Given the description of an element on the screen output the (x, y) to click on. 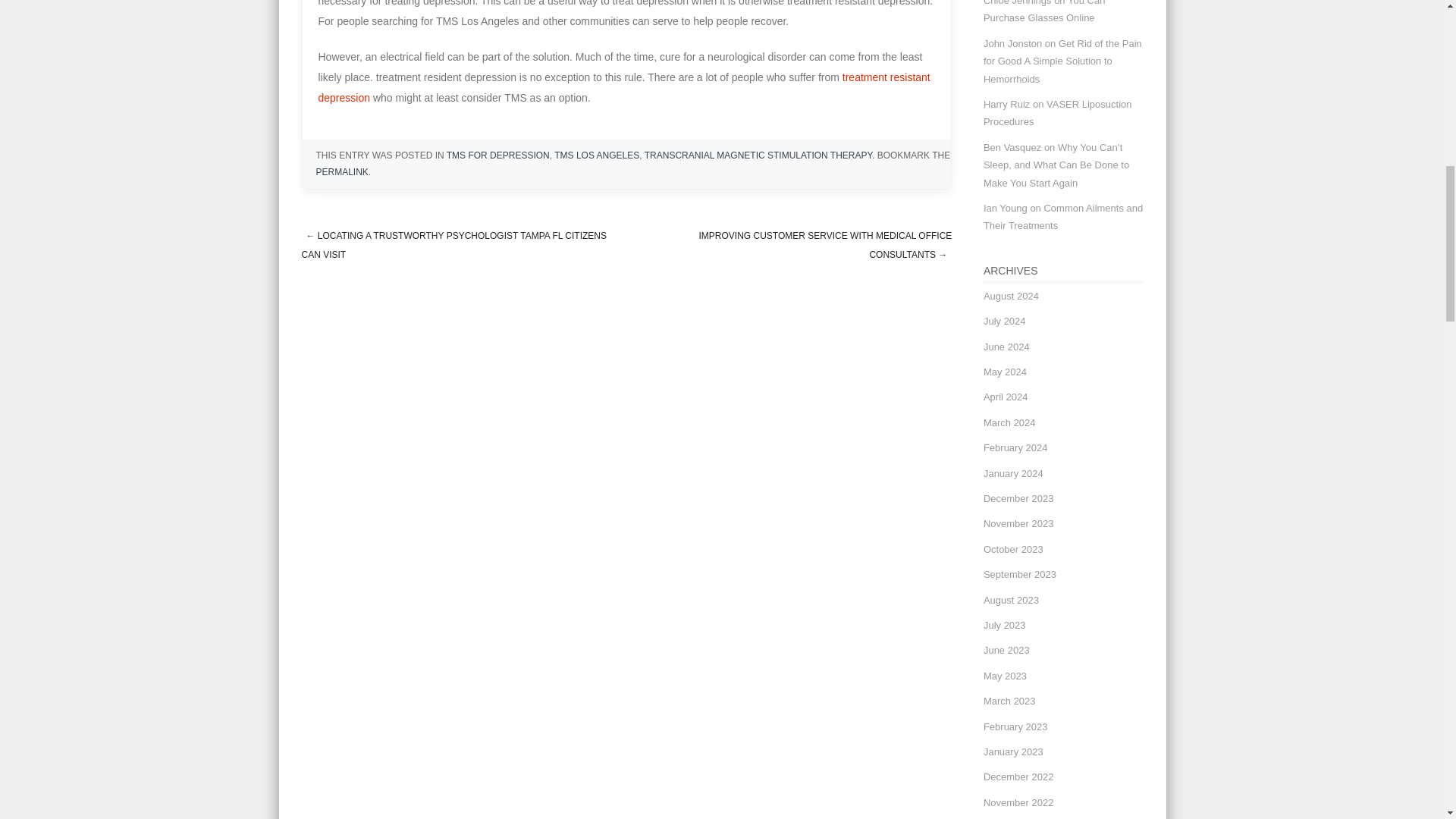
August 2024 (1011, 296)
April 2024 (1005, 396)
Harry Ruiz (1006, 103)
TRANSCRANIAL MAGNETIC STIMULATION THERAPY (758, 154)
Learn more about Tms for depression (624, 87)
TMS LOS ANGELES (596, 154)
Common Ailments and Their Treatments (1063, 216)
June 2024 (1006, 346)
